Given the description of an element on the screen output the (x, y) to click on. 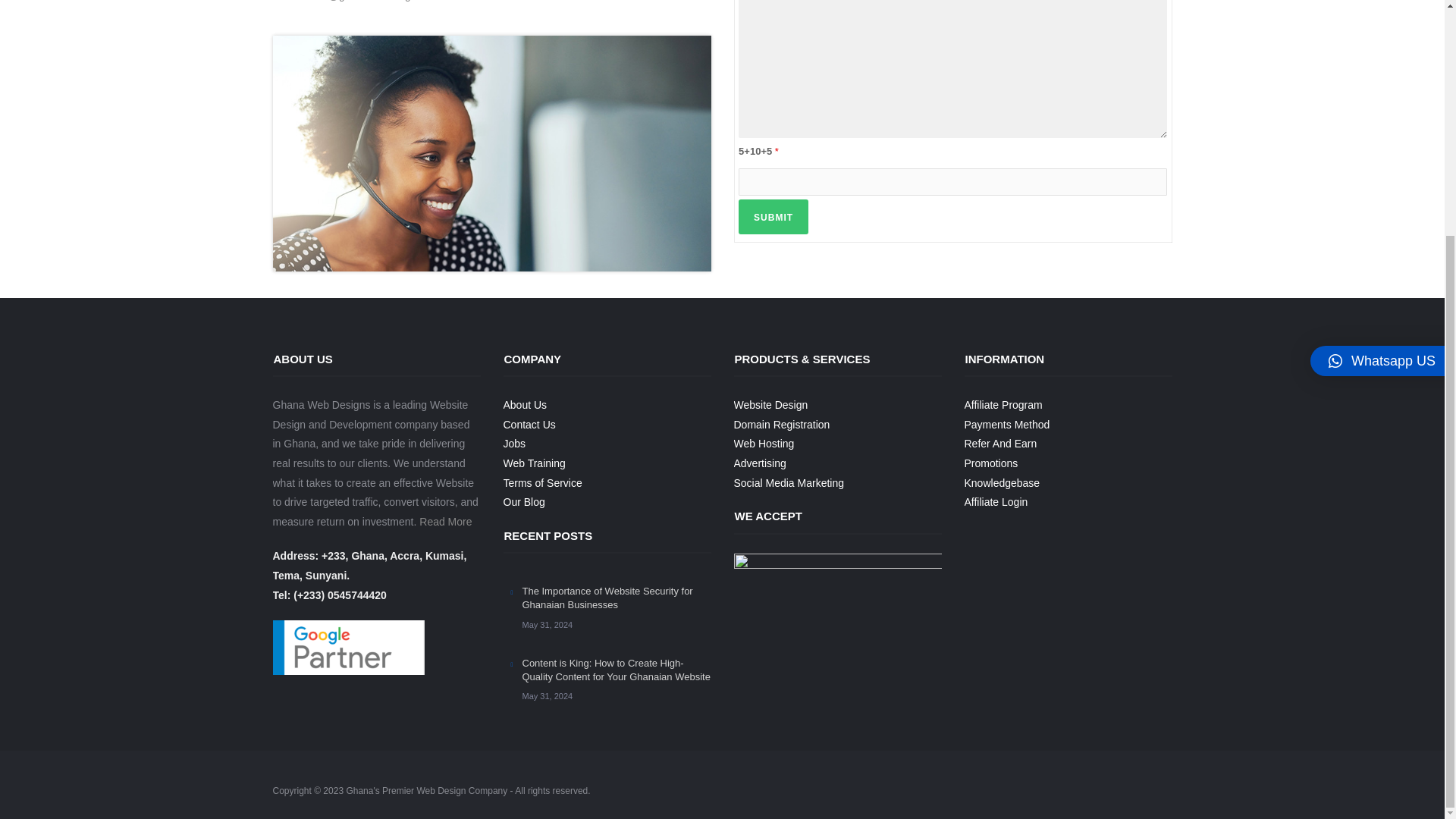
Read More (445, 521)
Submit (773, 216)
Submit (773, 216)
